Given the description of an element on the screen output the (x, y) to click on. 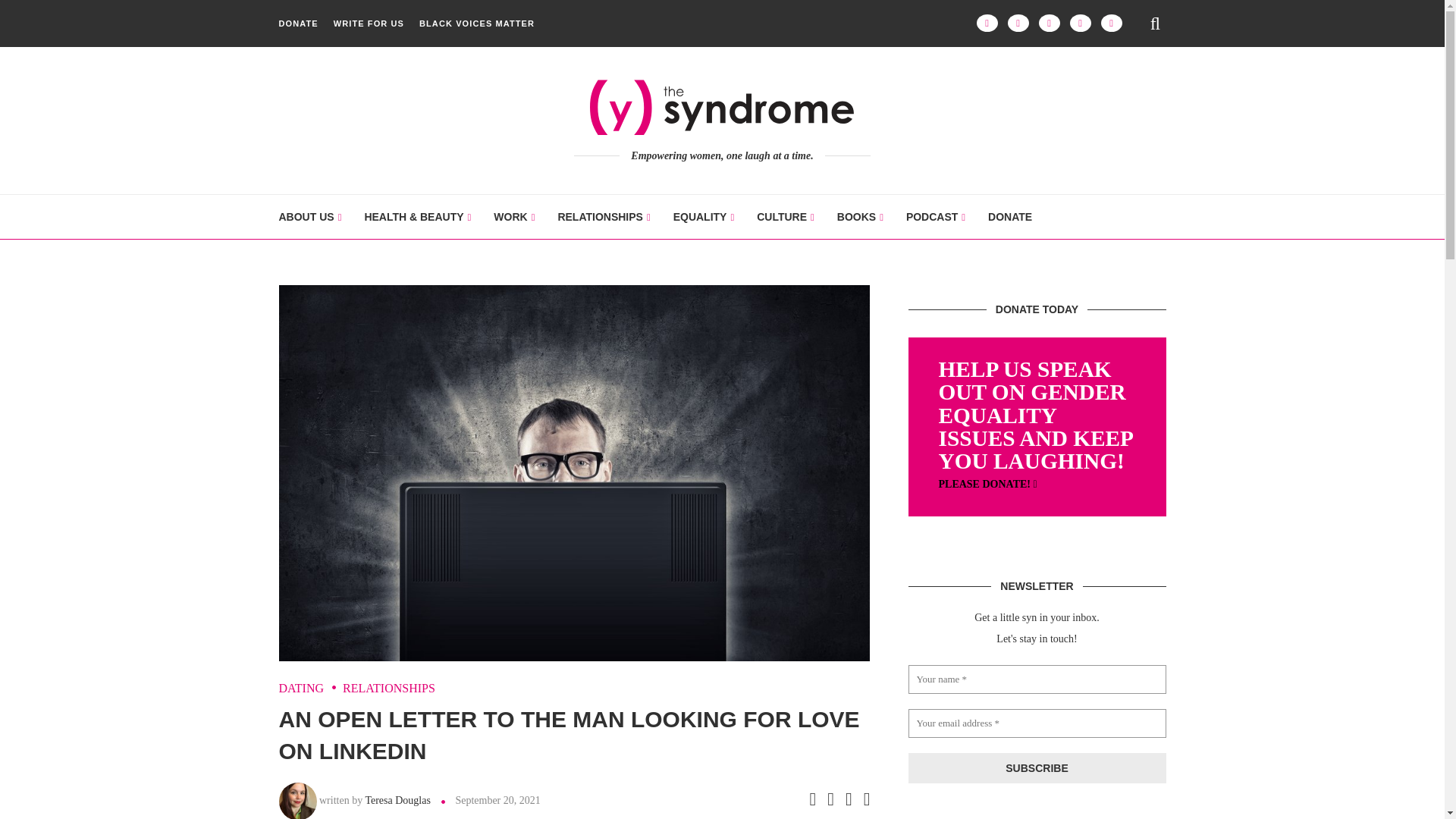
Donate (987, 483)
Author (298, 787)
Subscribe (1037, 767)
